Given the description of an element on the screen output the (x, y) to click on. 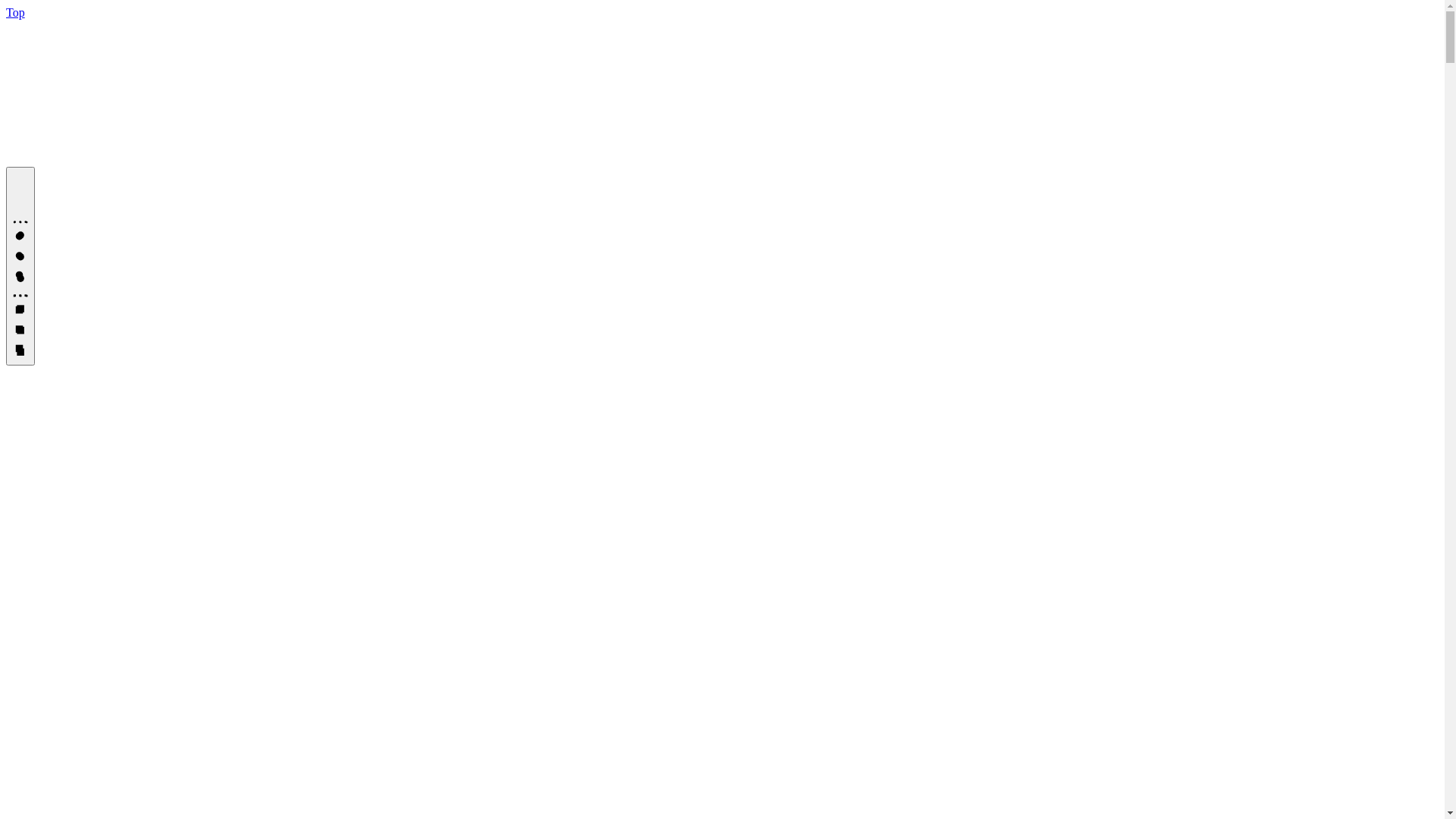
Top Element type: text (15, 12)
